Given the description of an element on the screen output the (x, y) to click on. 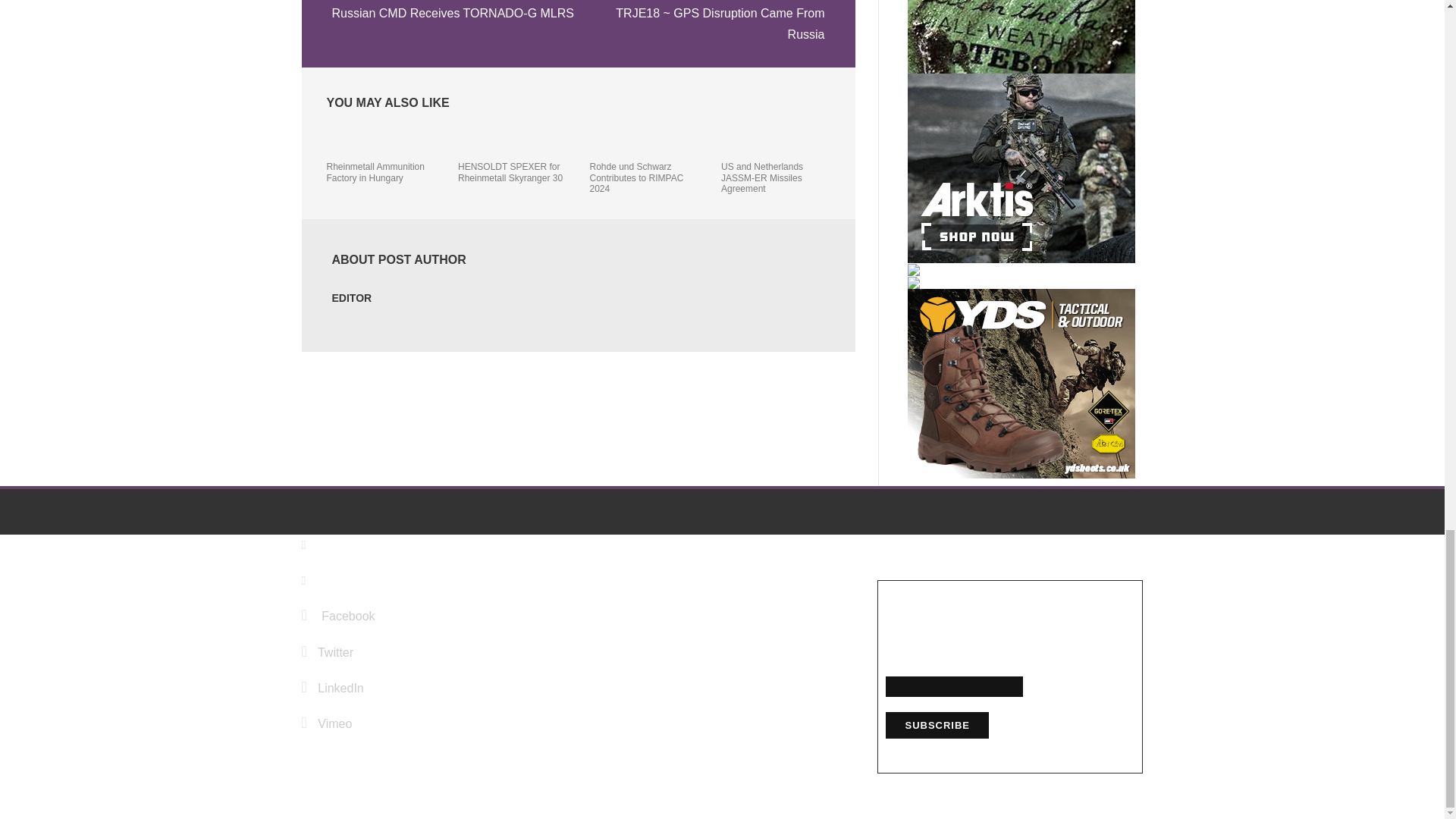
Subscribe (936, 724)
Posts by Editor (351, 297)
